Given the description of an element on the screen output the (x, y) to click on. 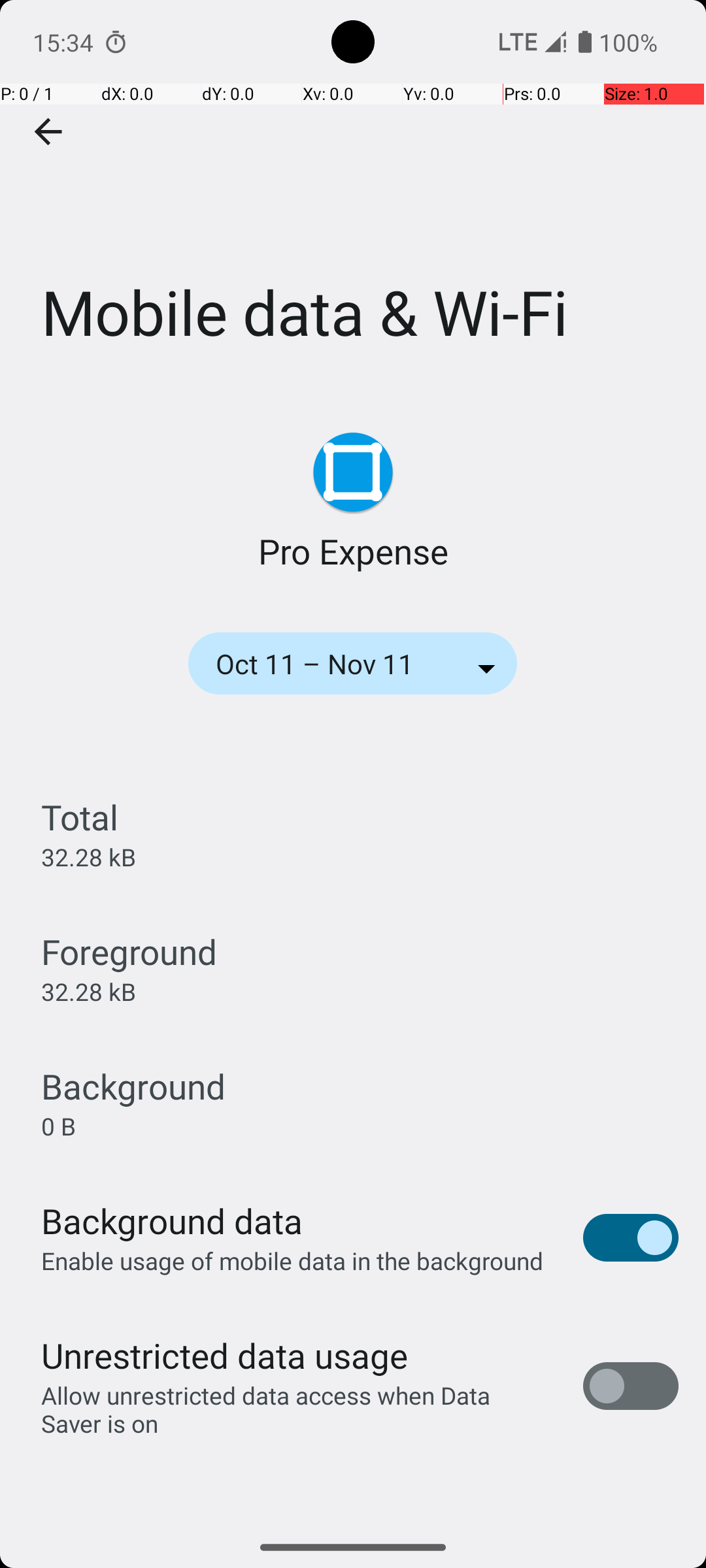
32.28 kB Element type: android.widget.TextView (88, 856)
Foreground Element type: android.widget.TextView (129, 951)
Background Element type: android.widget.TextView (133, 1085)
Background data Element type: android.widget.TextView (171, 1220)
Enable usage of mobile data in the background Element type: android.widget.TextView (292, 1260)
Unrestricted data usage Element type: android.widget.TextView (224, 1355)
Allow unrestricted data access when Data Saver is on Element type: android.widget.TextView (298, 1408)
Oct 11 – Nov 11 Element type: android.widget.TextView (331, 663)
